Given the description of an element on the screen output the (x, y) to click on. 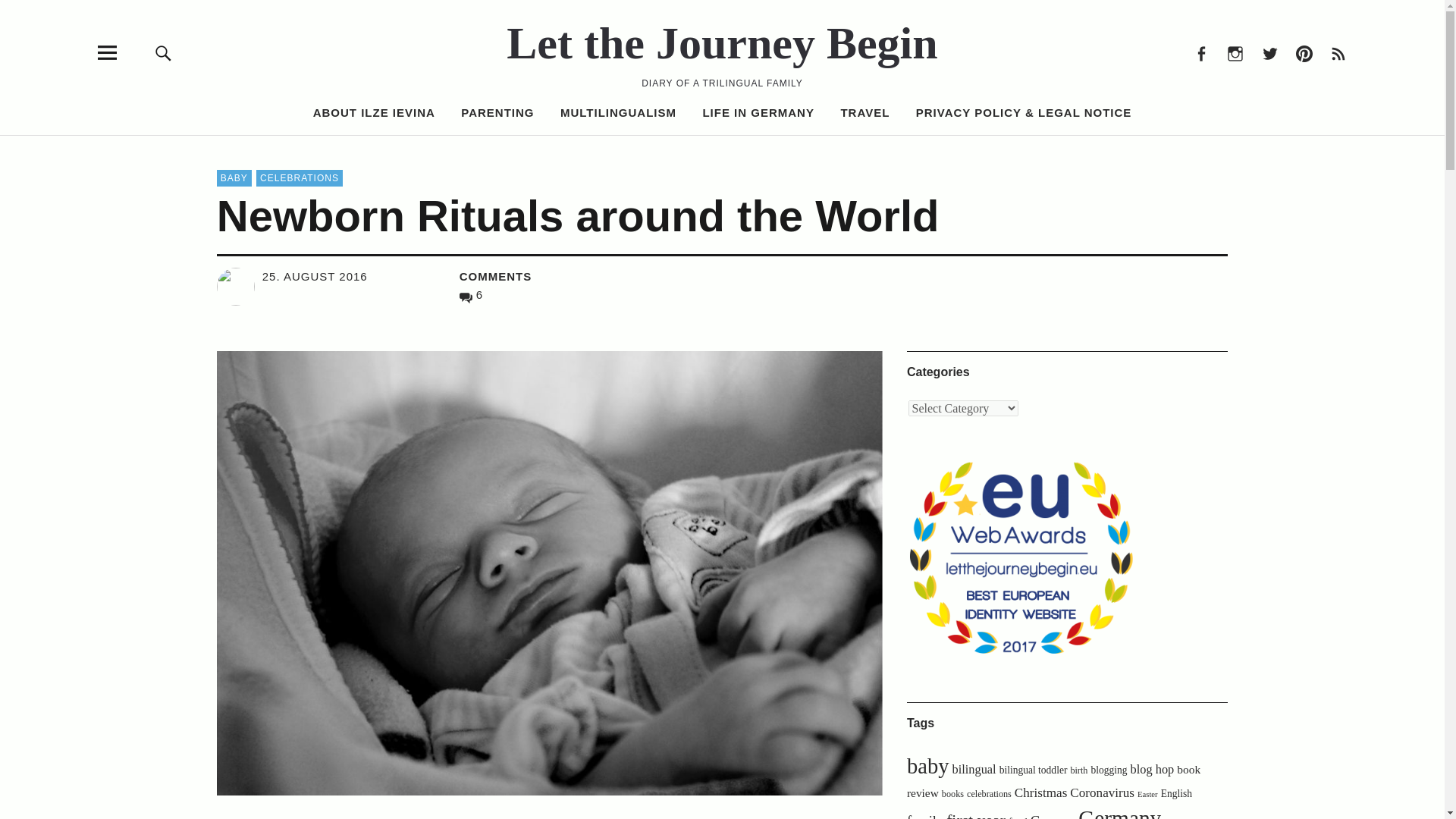
Let the Journey Begin (721, 42)
Search (965, 150)
MULTILINGUALISM (618, 112)
PARENTING (497, 112)
TRAVEL (864, 112)
LIFE IN GERMANY (757, 112)
ABOUT ILZE IEVINA (374, 112)
